Given the description of an element on the screen output the (x, y) to click on. 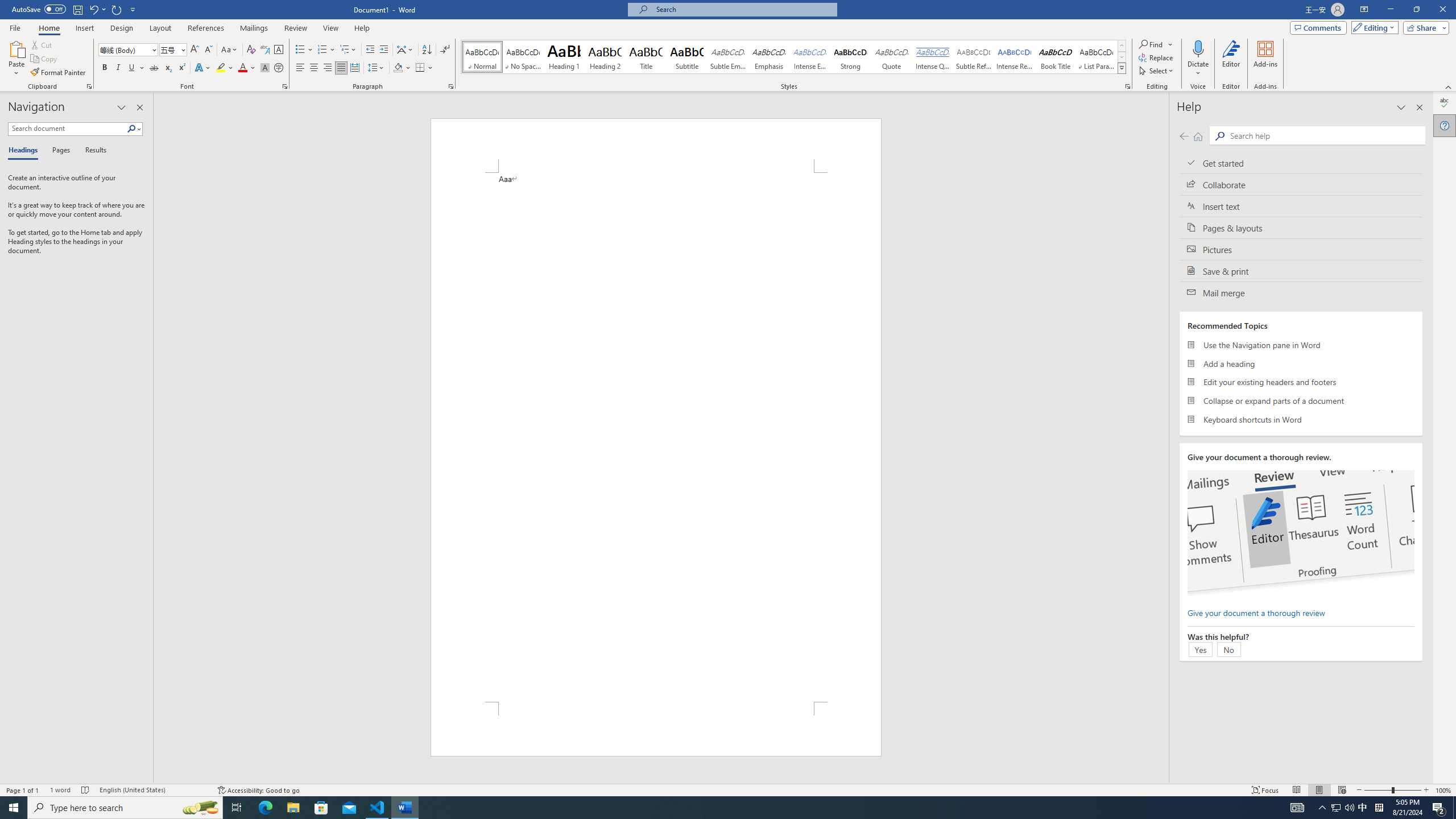
Borders (419, 67)
Search (131, 128)
Pictures (1300, 249)
Clear Formatting (250, 49)
Shading (402, 67)
Mailings (253, 28)
Text Highlight Color (224, 67)
Borders (424, 67)
Heading 2 (605, 56)
Page Number Page 1 of 1 (22, 790)
Mode (1372, 27)
Intense Emphasis (809, 56)
Pages (59, 150)
Collapse or expand parts of a document (1300, 400)
Row Down (1121, 56)
